Given the description of an element on the screen output the (x, y) to click on. 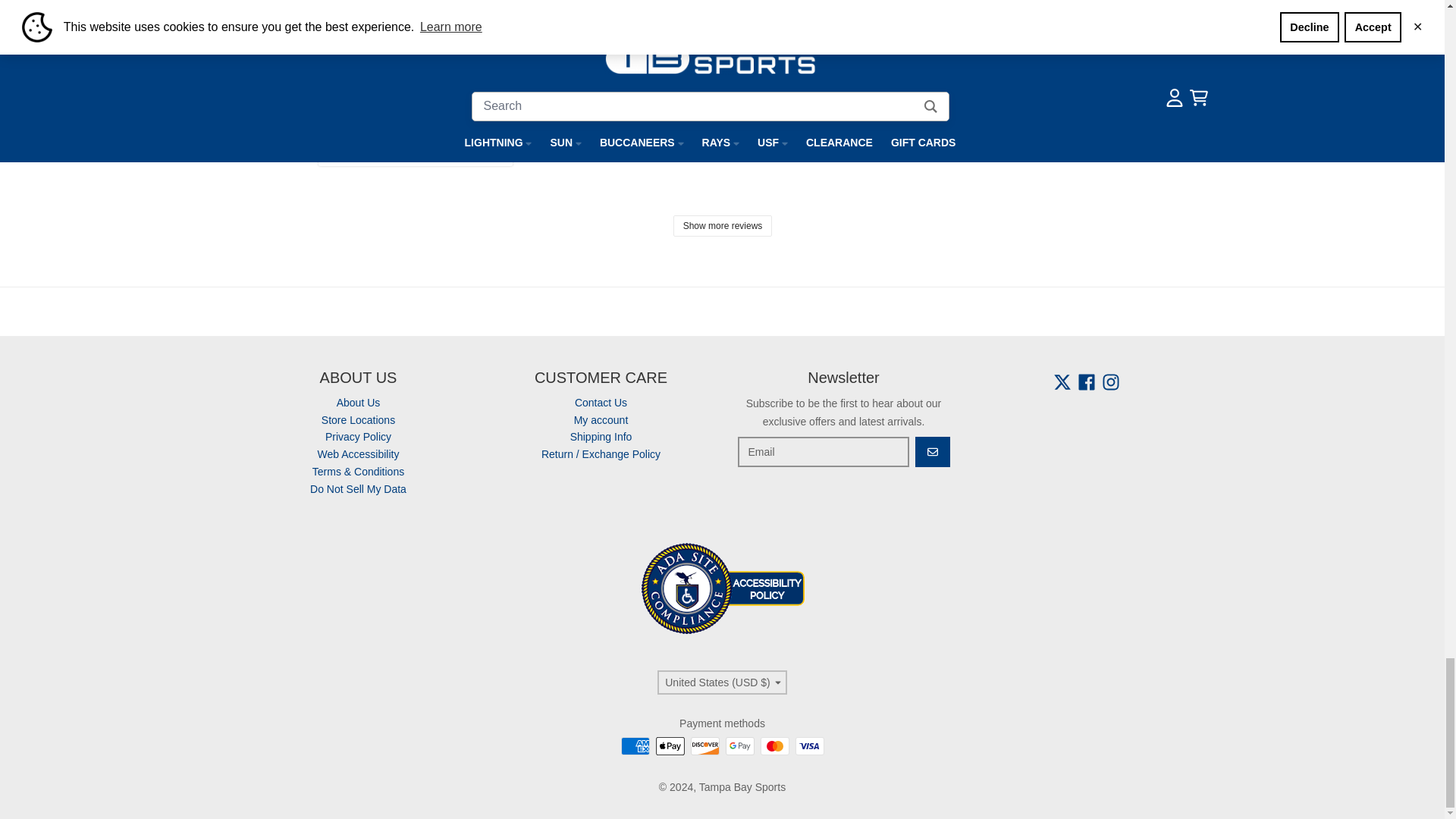
Twitter - Tampa Bay Sports (1061, 382)
Facebook - Tampa Bay Sports (1085, 382)
Instagram - Tampa Bay Sports (1109, 382)
